Given the description of an element on the screen output the (x, y) to click on. 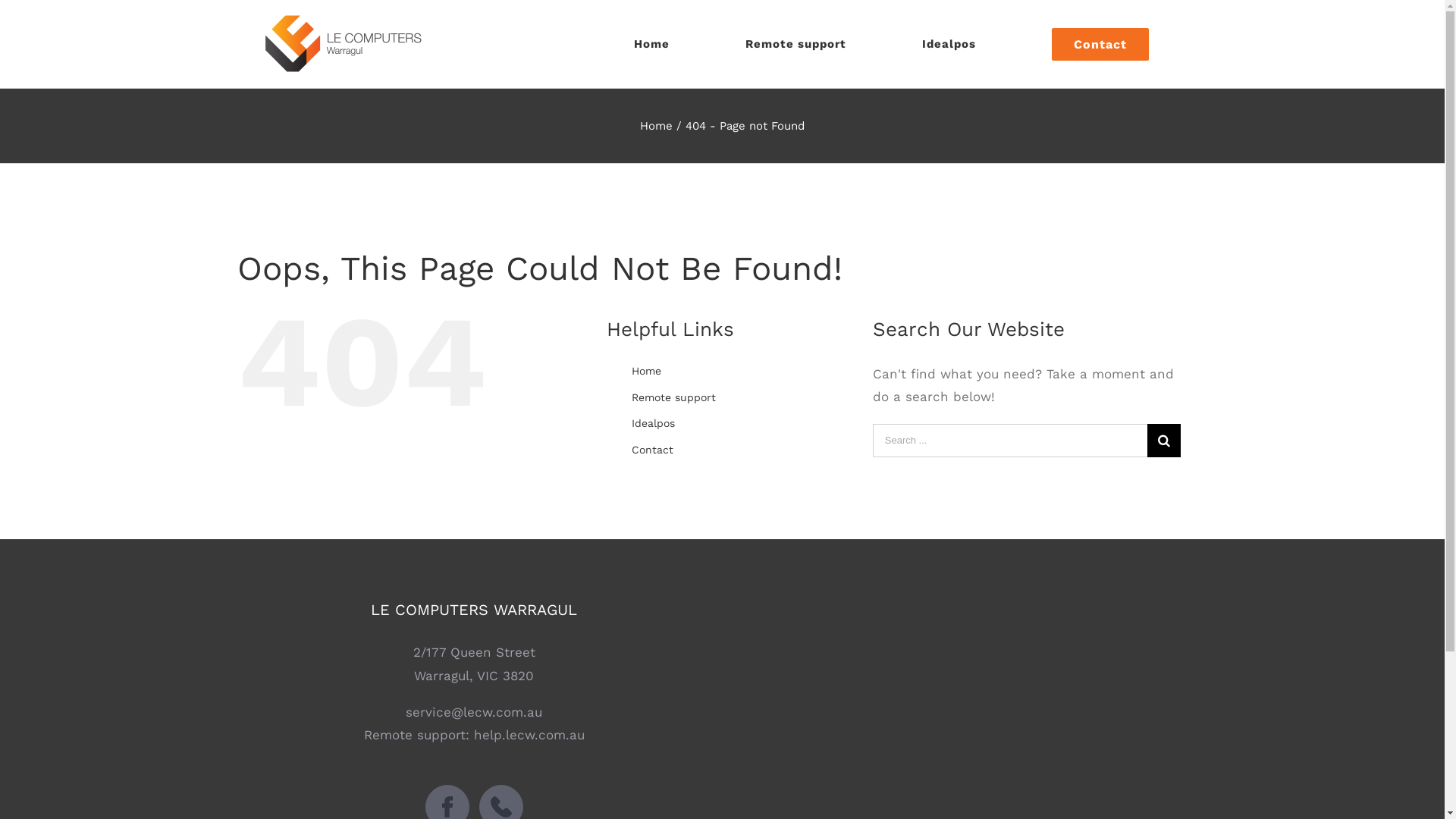
Home Element type: text (646, 370)
Idealpos Element type: text (948, 43)
Home Element type: text (651, 43)
help.lecw.com.au Element type: text (528, 734)
Contact Element type: text (652, 449)
Remote support Element type: text (673, 397)
Home Element type: text (656, 125)
service@lecw.com.au Element type: text (473, 711)
Idealpos Element type: text (652, 423)
Contact Element type: text (1099, 43)
Remote support Element type: text (795, 43)
